Given the description of an element on the screen output the (x, y) to click on. 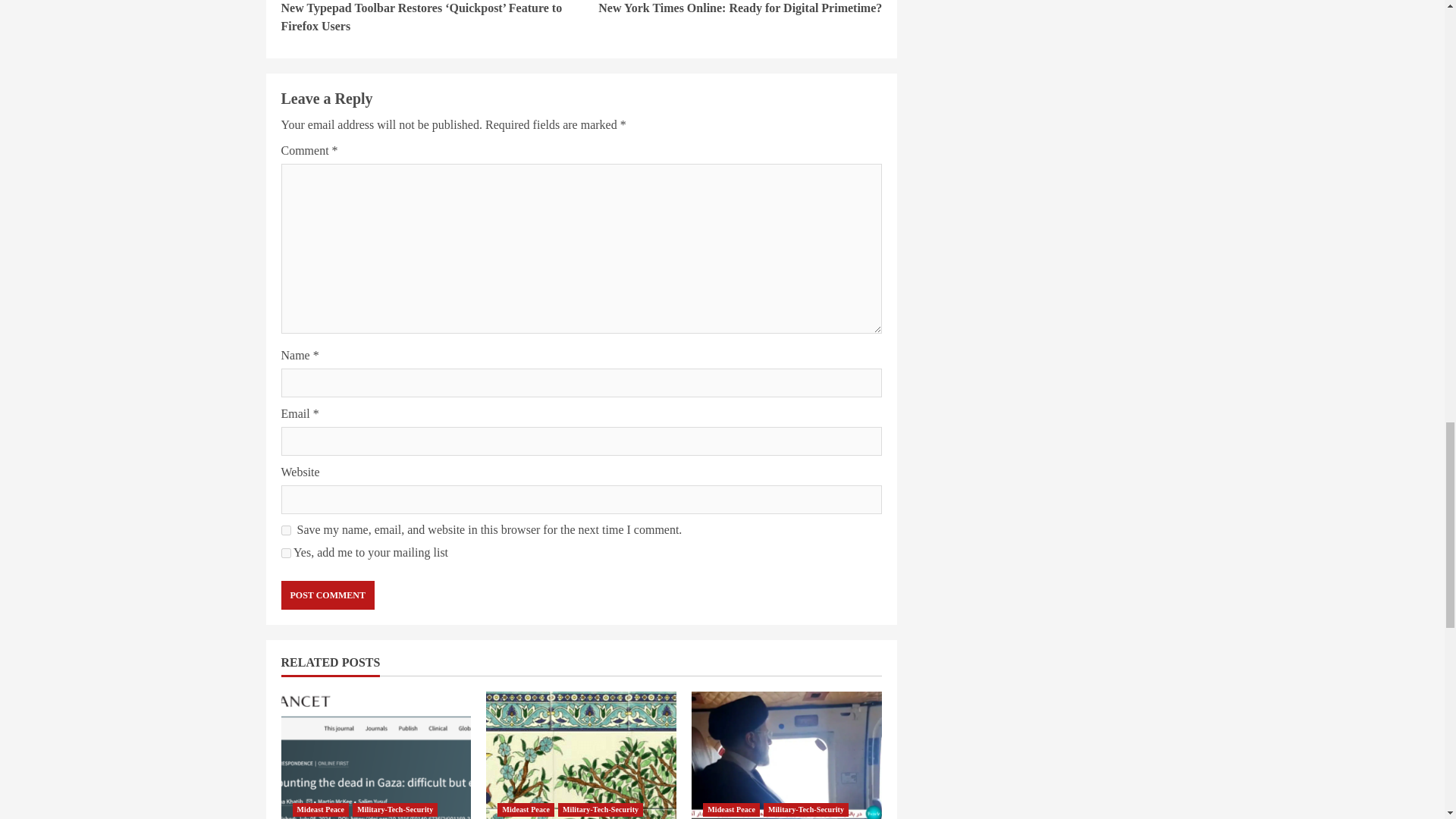
Military-Tech-Security (395, 809)
1 (285, 552)
Mideast Peace (320, 809)
Military-Tech-Security (805, 809)
Military-Tech-Security (600, 809)
Post Comment (327, 594)
Mideast Peace (731, 809)
Mideast Peace (525, 809)
yes (285, 530)
